Given the description of an element on the screen output the (x, y) to click on. 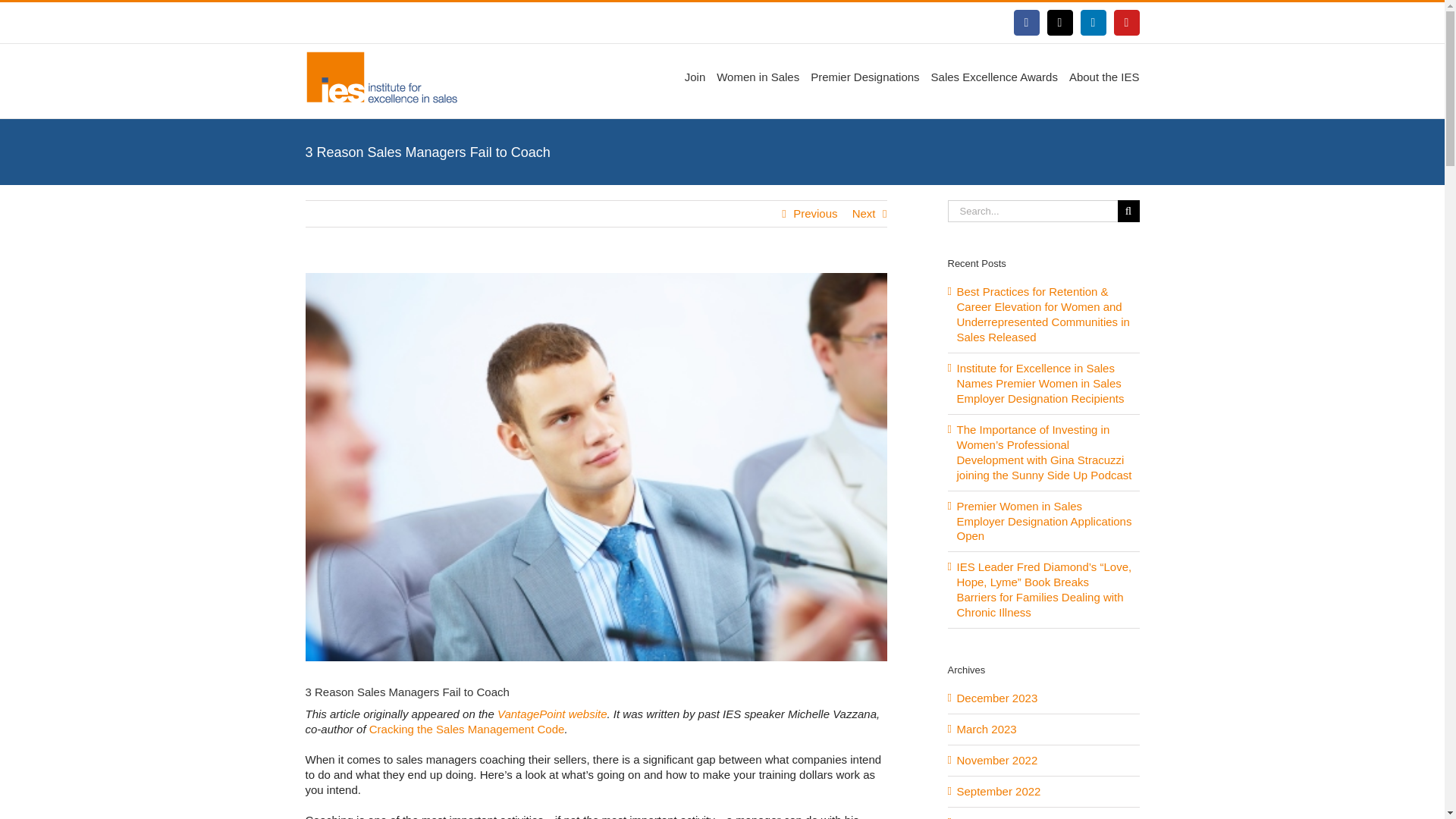
YouTube (1125, 22)
About the IES (1104, 75)
LinkedIn (1092, 22)
Facebook (1026, 22)
Premier Designations (864, 75)
Facebook (1026, 22)
YouTube (1125, 22)
LinkedIn (1092, 22)
Sales Excellence Awards (994, 75)
Women in Sales (757, 75)
X (1058, 22)
X (1058, 22)
